Given the description of an element on the screen output the (x, y) to click on. 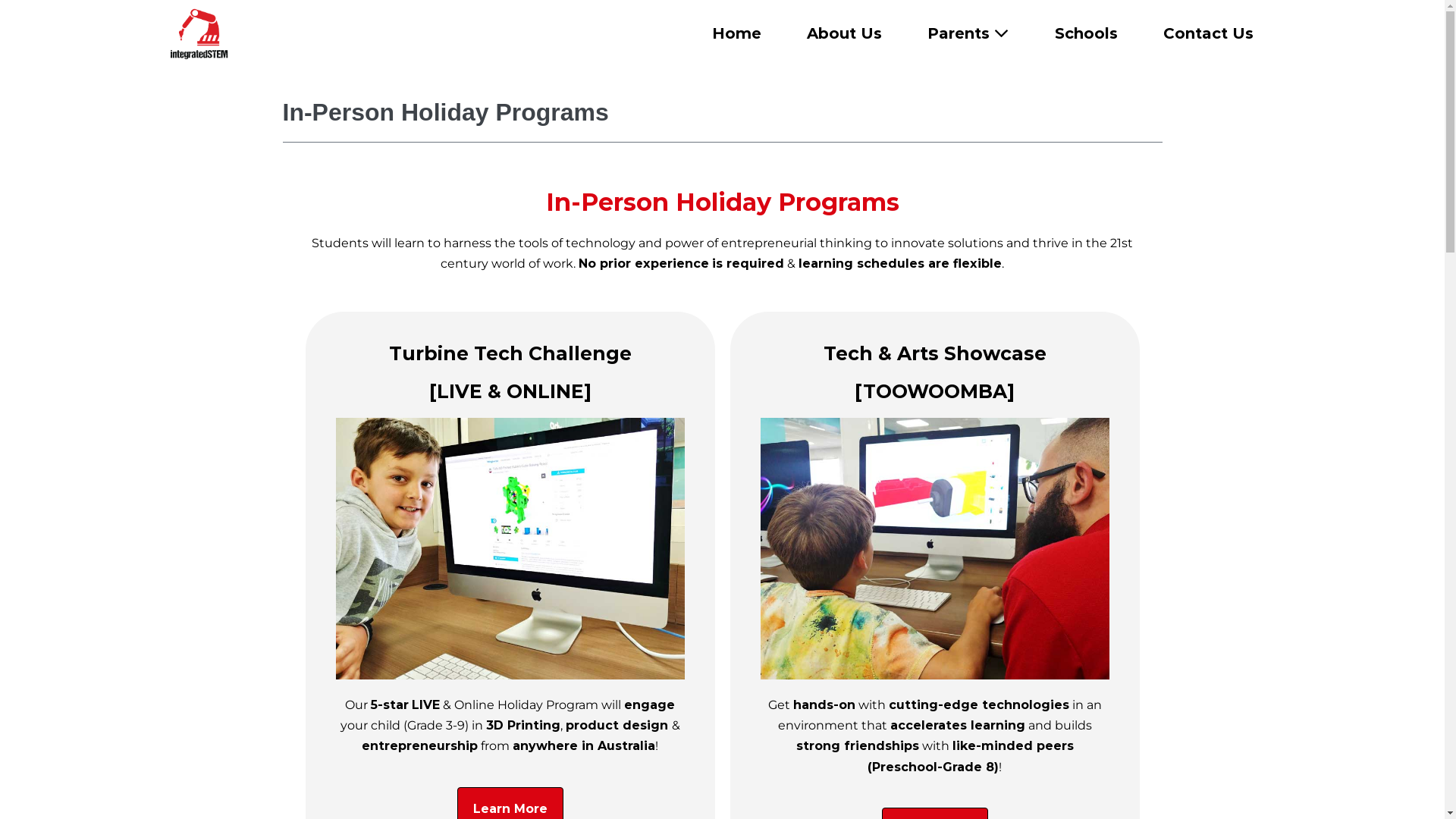
Home Element type: text (735, 32)
Parents Element type: text (967, 32)
About Us Element type: text (844, 32)
Schools Element type: text (1085, 32)
integratedSTEM Element type: hover (198, 33)
Contact Us Element type: text (1208, 32)
